Given the description of an element on the screen output the (x, y) to click on. 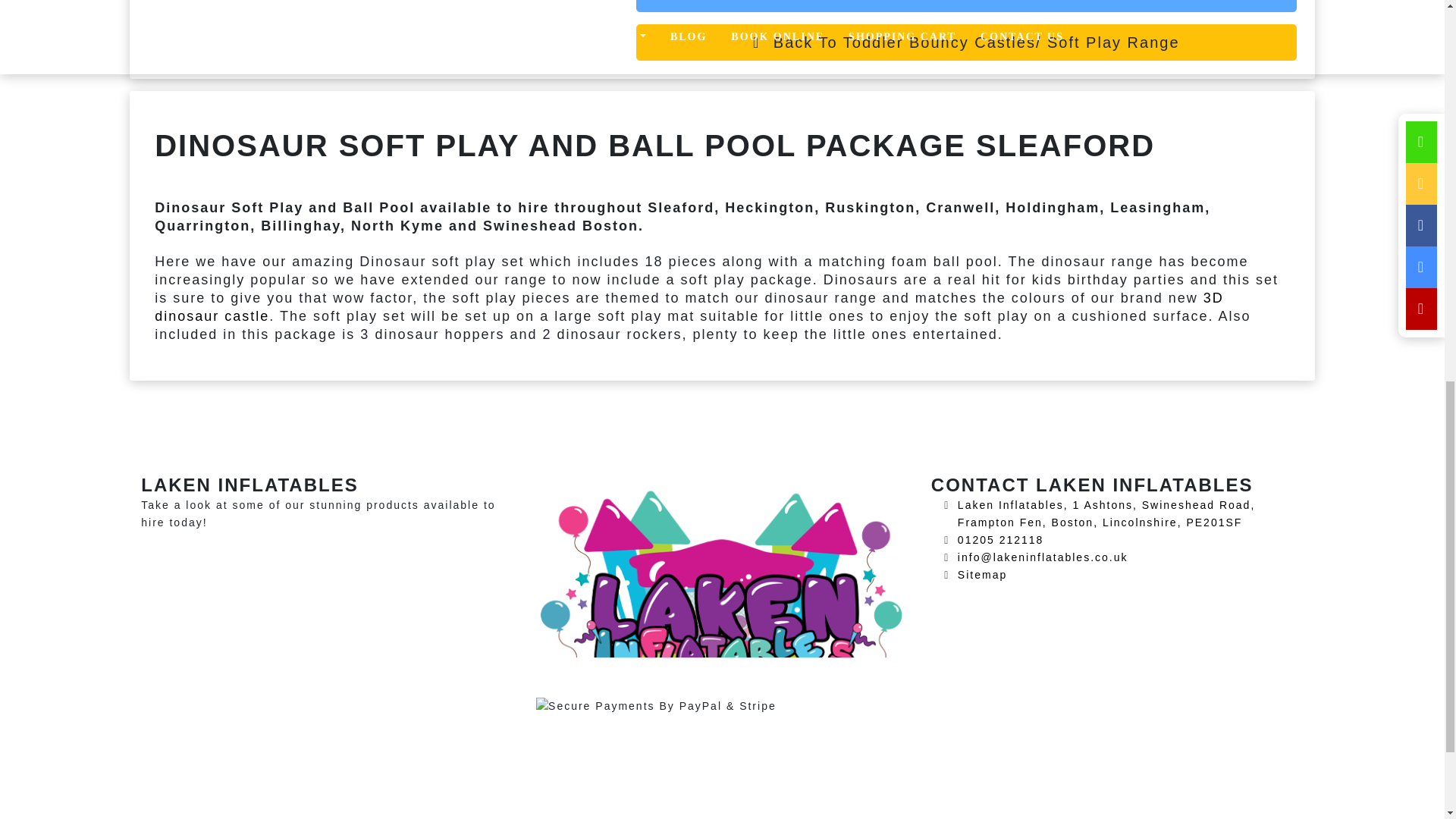
Our address (1106, 513)
Send us an email! (1043, 557)
Sitemap (982, 574)
Call us today! (1000, 539)
